Given the description of an element on the screen output the (x, y) to click on. 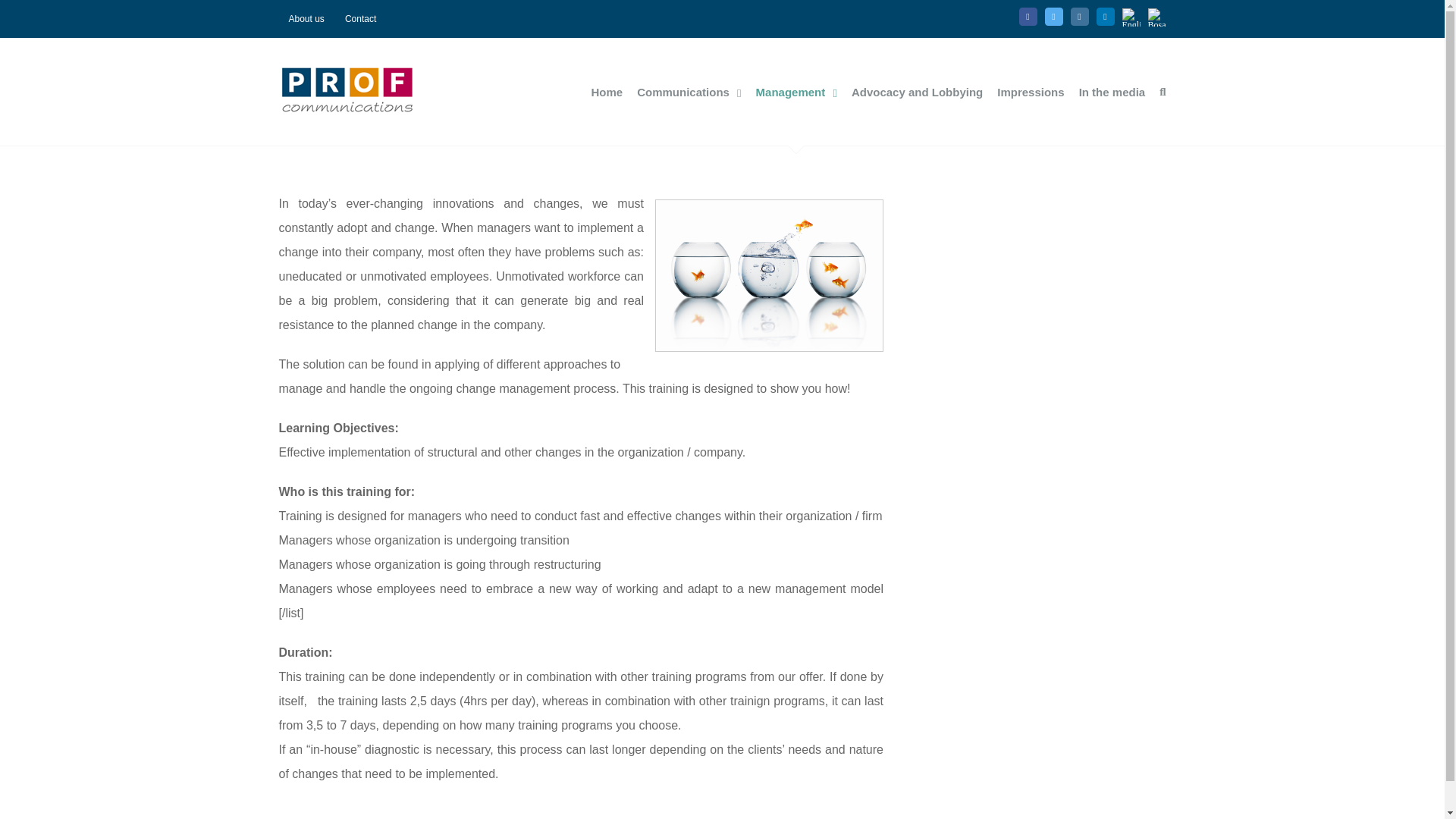
Facebook (1027, 16)
English (1131, 17)
Bosanski (1157, 17)
Twitter (1053, 16)
Advocacy and Lobbying (916, 91)
Facebook (1002, 774)
Linkedin (1105, 16)
Bosanski (1154, 775)
Twitter (1033, 774)
Linkedin (1105, 16)
